Given the description of an element on the screen output the (x, y) to click on. 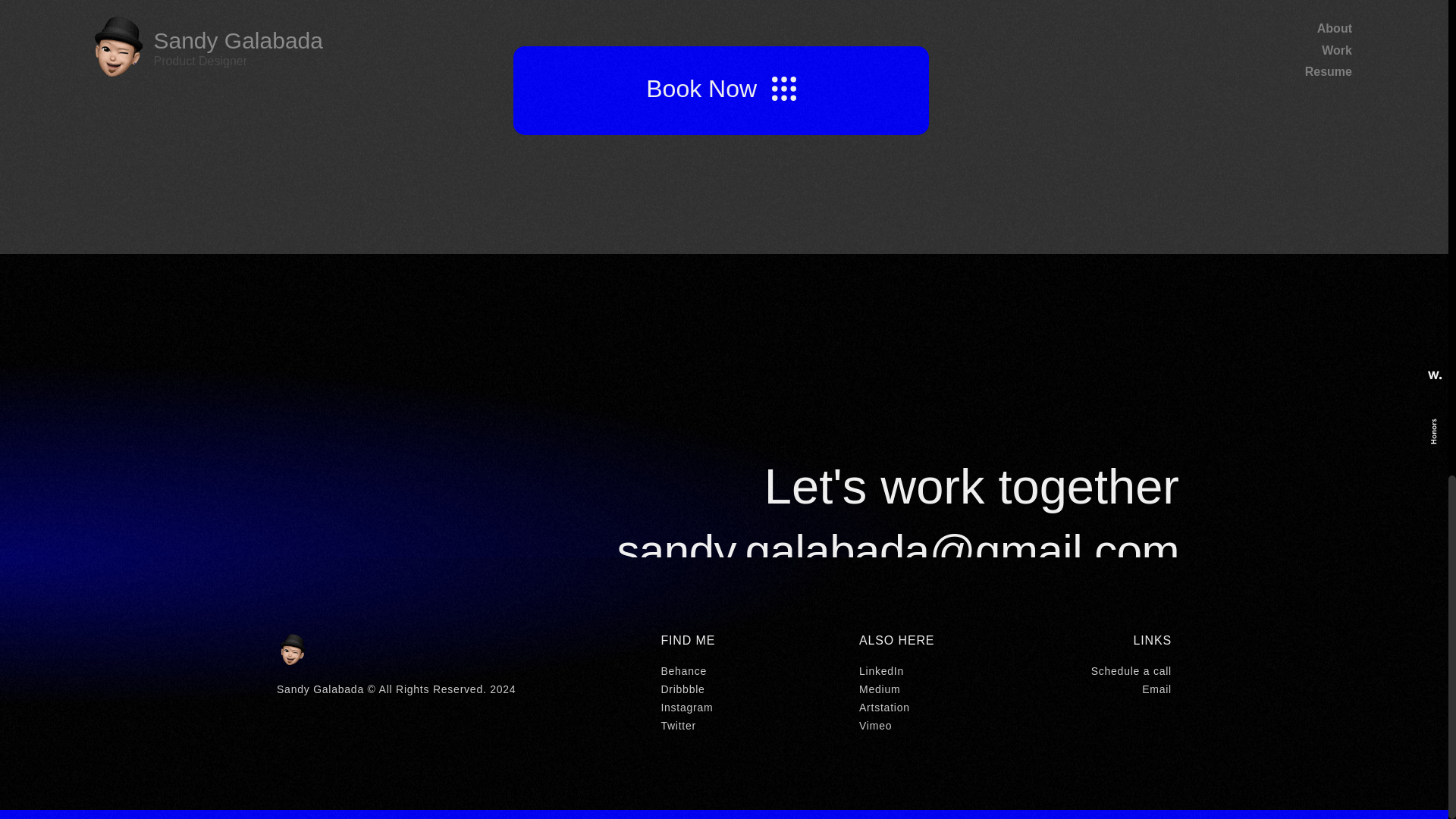
Twitter (743, 725)
Artstation (933, 707)
Medium (933, 688)
Vimeo (933, 725)
Schedule a call (1105, 670)
Dribbble (743, 688)
Email (1105, 688)
Book Now (721, 90)
Instagram (743, 707)
LinkedIn (933, 670)
